Given the description of an element on the screen output the (x, y) to click on. 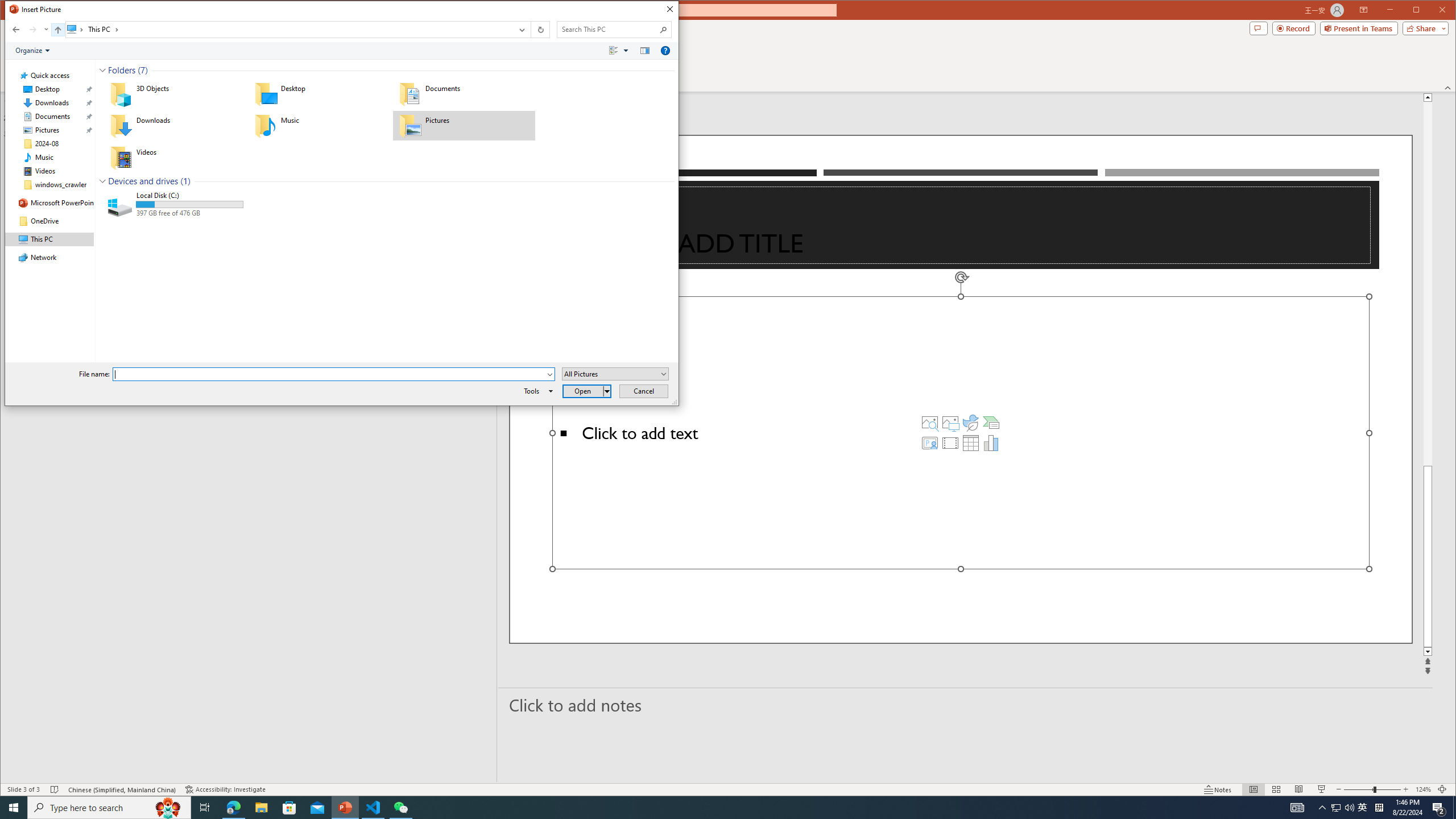
Insert Cameo (929, 443)
Available space (189, 212)
WeChat - 1 running window (400, 807)
Zoom 124% (1422, 789)
Navigation buttons (28, 29)
Downloads (174, 125)
